Given the description of an element on the screen output the (x, y) to click on. 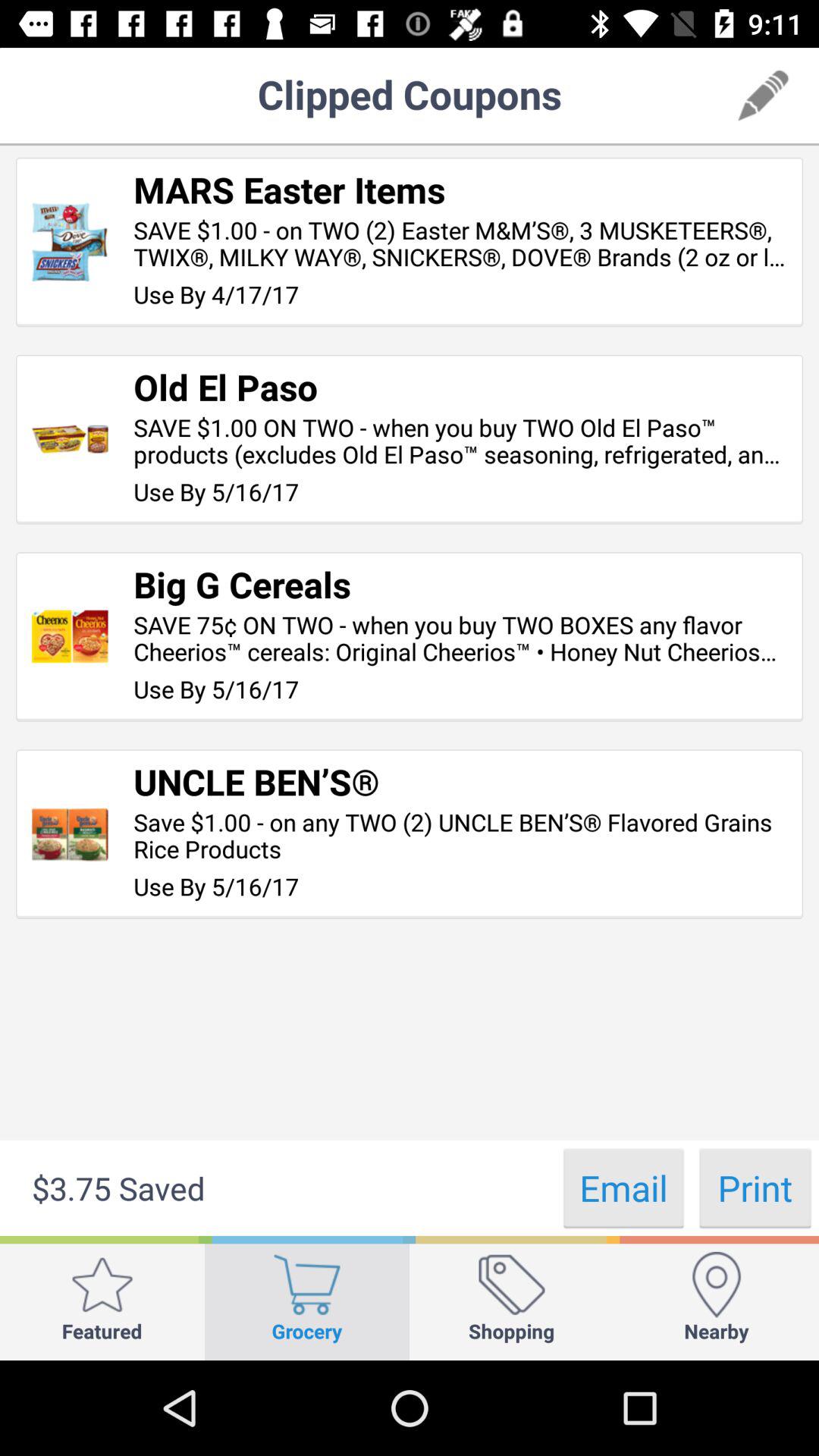
launch icon next to $3.75 saved item (623, 1187)
